Given the description of an element on the screen output the (x, y) to click on. 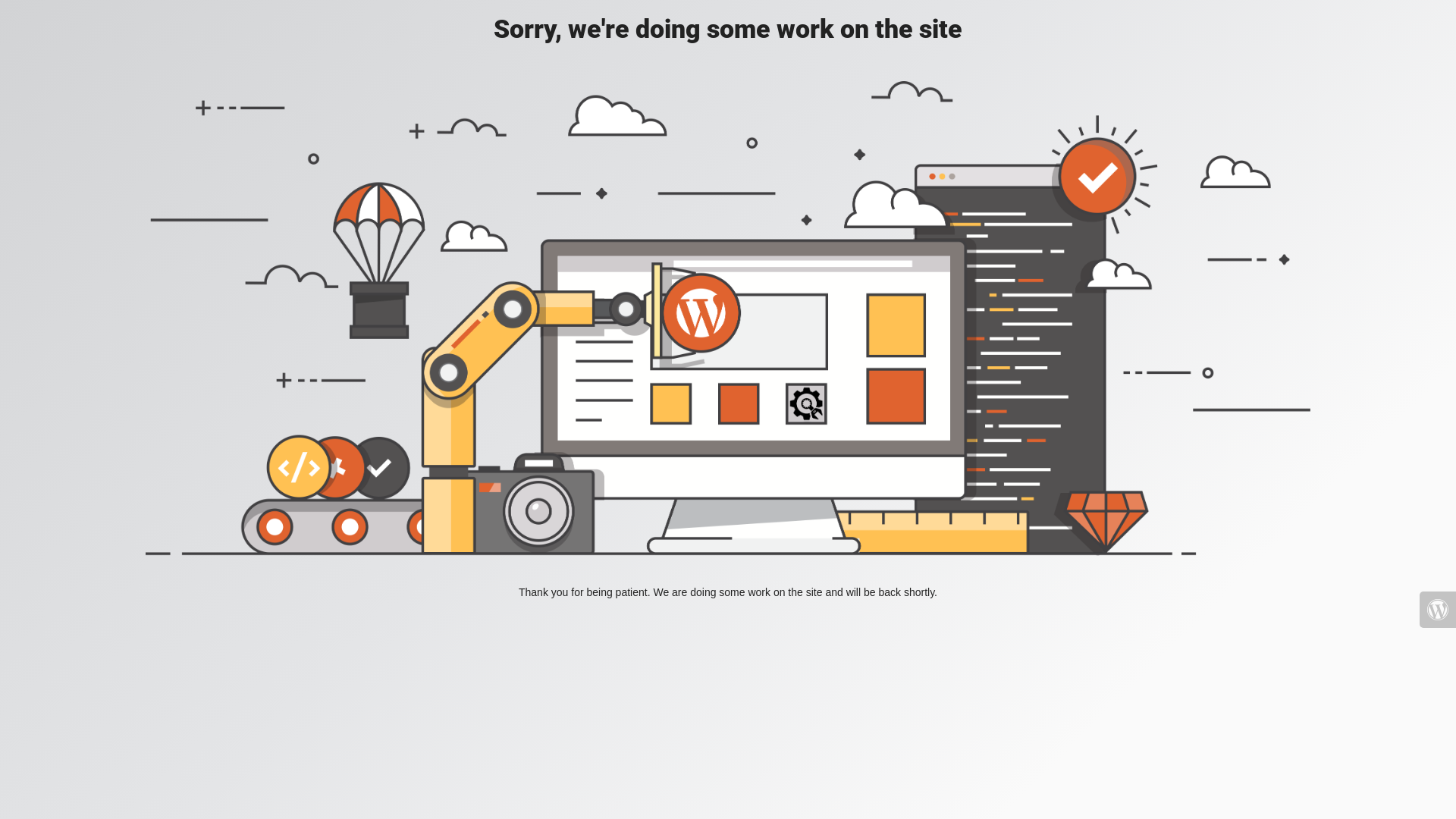
Construction work in progress Element type: hover (727, 318)
